Given the description of an element on the screen output the (x, y) to click on. 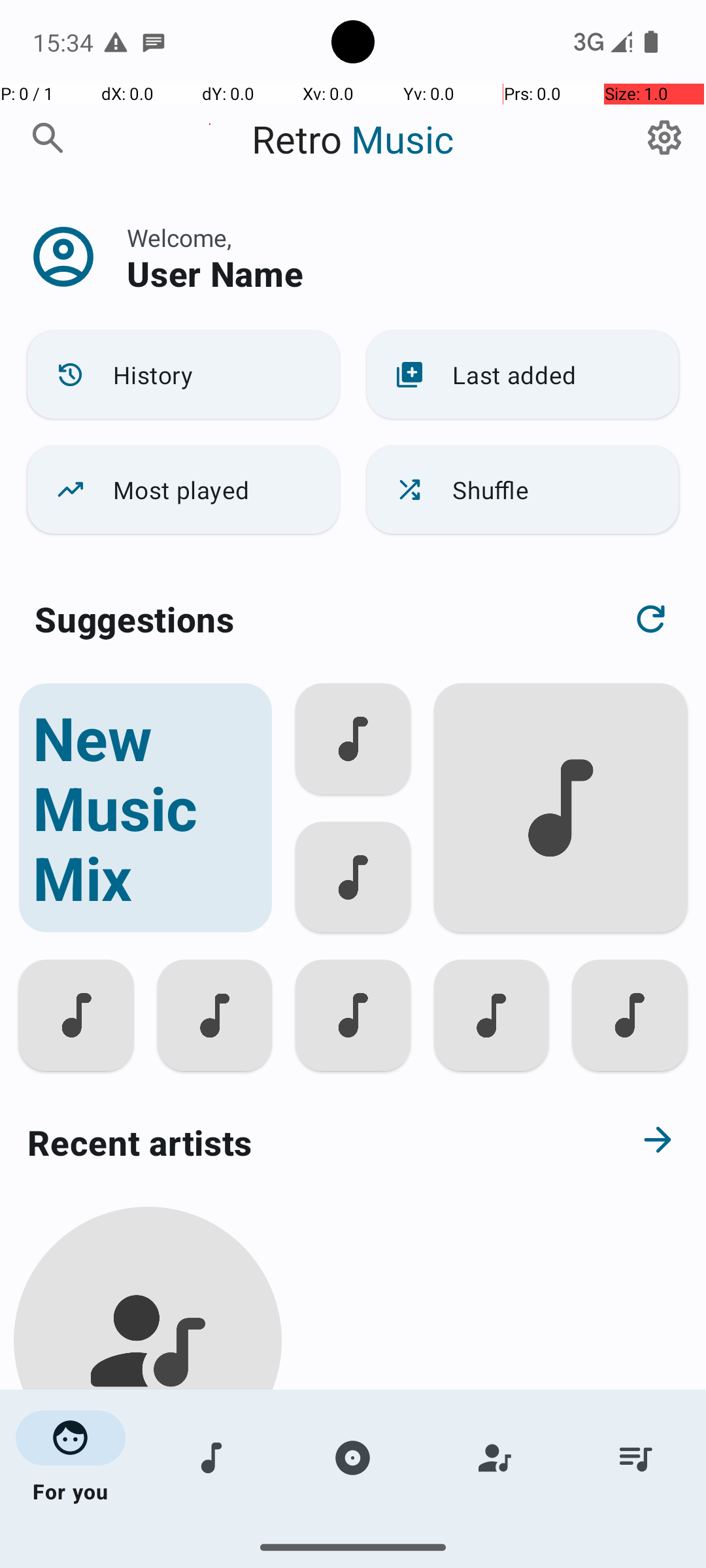
Retro Music Element type: android.widget.TextView (352, 138)
For you Element type: android.widget.FrameLayout (70, 1457)
Songs Element type: android.widget.FrameLayout (211, 1457)
Albums Element type: android.widget.FrameLayout (352, 1457)
Artists Element type: android.widget.FrameLayout (493, 1457)
Welcome, Element type: android.widget.TextView (179, 237)
User Name Element type: android.widget.TextView (214, 273)
Last added Element type: android.widget.Button (522, 374)
Most played Element type: android.widget.Button (183, 489)
Suggestions Element type: android.widget.TextView (134, 618)
New Music Mix Element type: android.widget.TextView (144, 807)
Recent artists Element type: android.widget.TextView (304, 1141)
Recent albums Element type: android.widget.TextView (304, 1557)
Nikola Element type: android.widget.TextView (147, 1503)
